Given the description of an element on the screen output the (x, y) to click on. 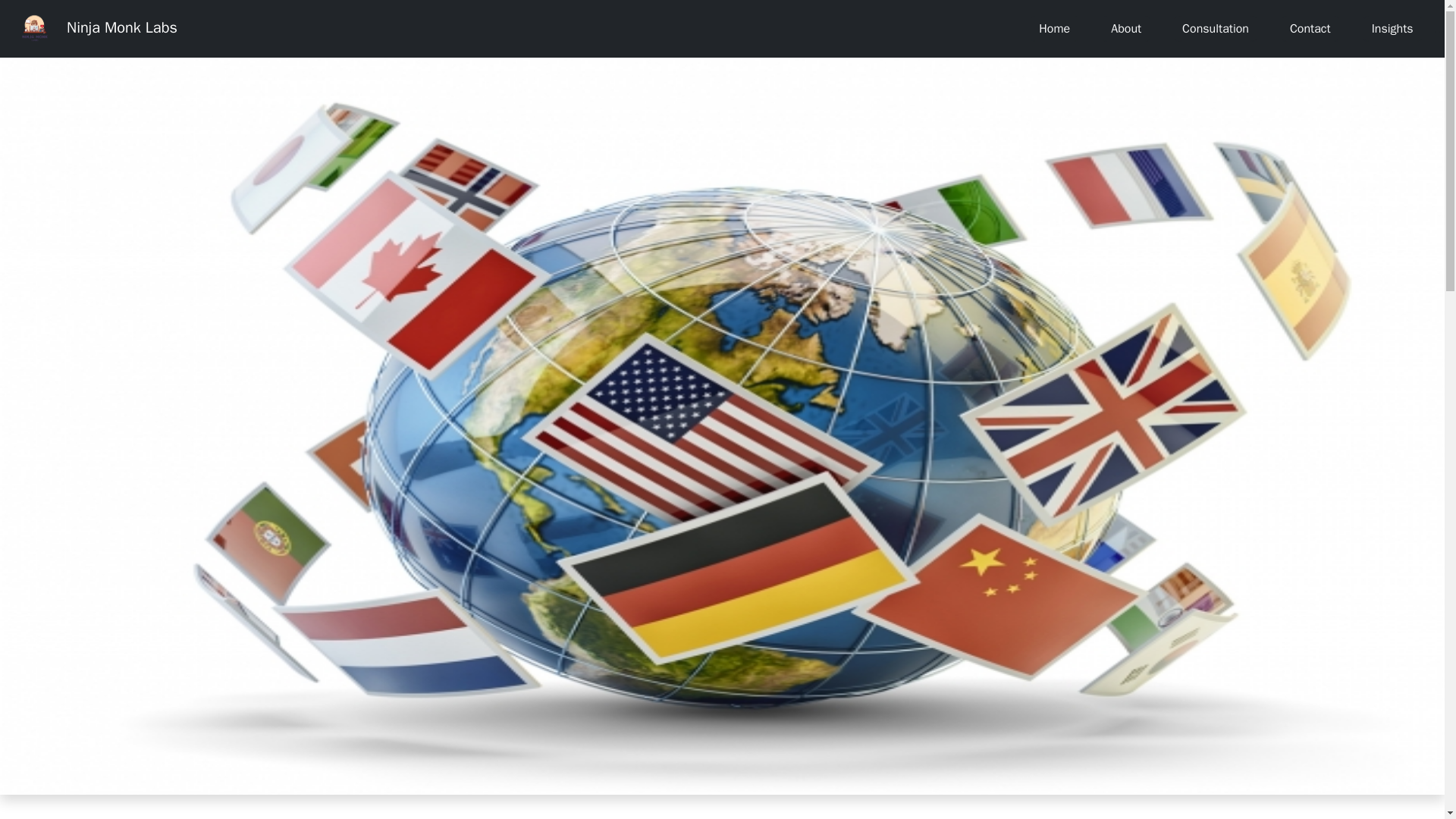
  Ninja Monk Labs (94, 27)
Home (1054, 28)
Consultation (1215, 28)
Insights (1392, 28)
Contact (1310, 28)
About (1126, 28)
